Given the description of an element on the screen output the (x, y) to click on. 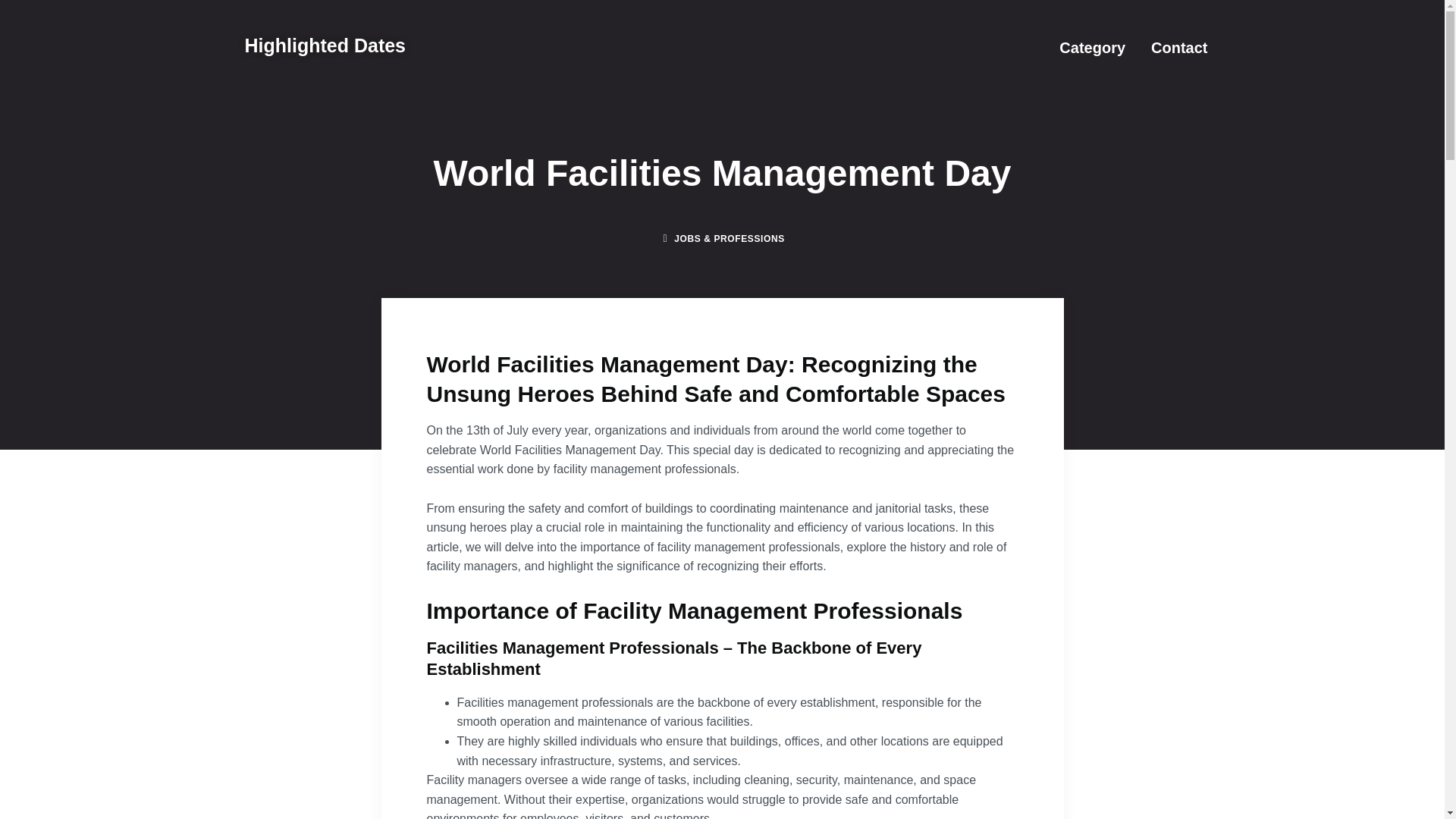
Highlighted Dates (325, 45)
Contact (1179, 47)
Category (1092, 47)
